Given the description of an element on the screen output the (x, y) to click on. 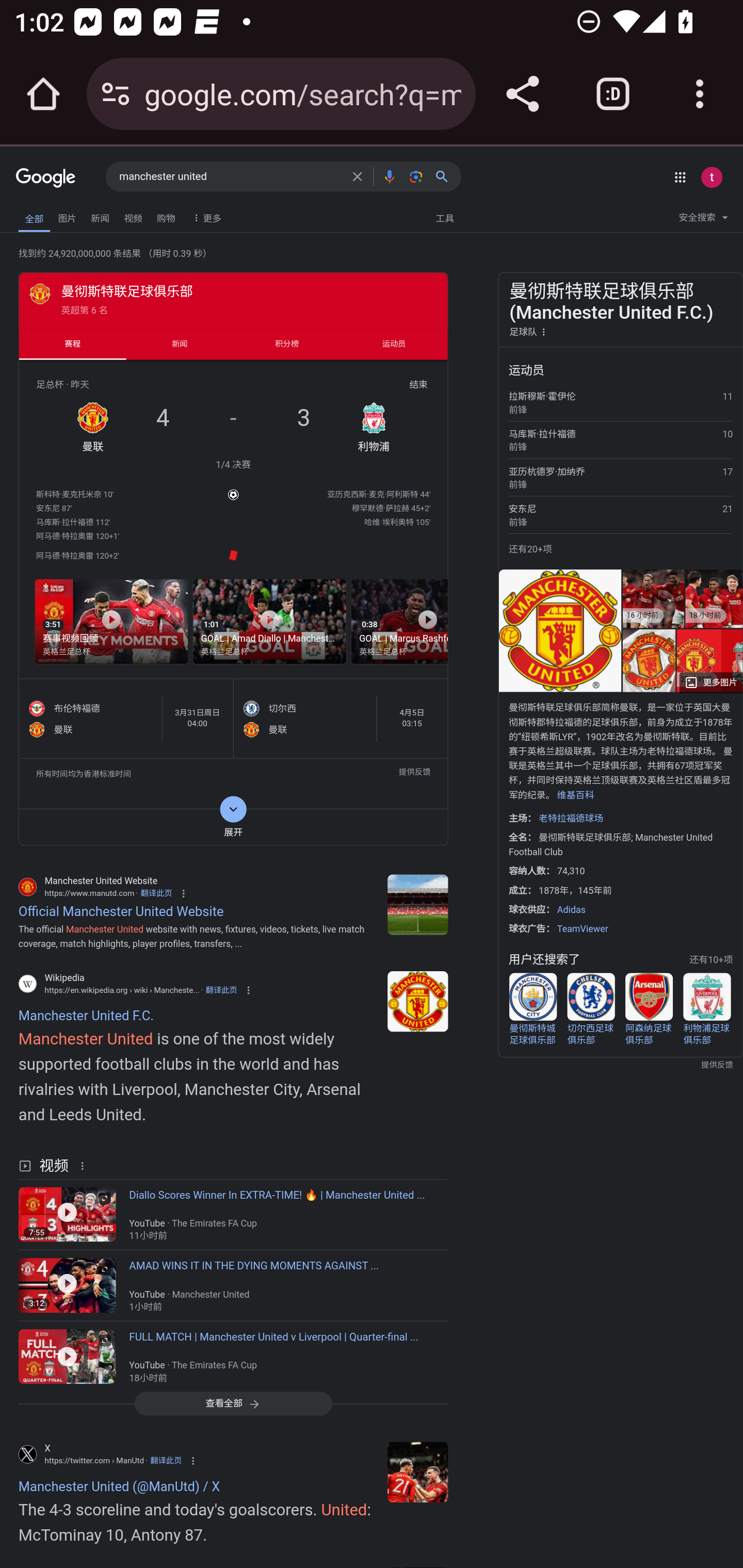
Open the home page (43, 93)
Connection is secure (115, 93)
Share (522, 93)
Switch or close tabs (612, 93)
Customize and control Google Chrome (699, 93)
清除 (357, 176)
按语音搜索 (388, 176)
按图搜索 (415, 176)
搜索 (445, 176)
Google 应用 (679, 176)
Google 账号： test appium (testappium002@gmail.com) (711, 176)
Google (45, 178)
manchester united (229, 177)
无障碍功能反馈 (42, 212)
图片 (67, 216)
新闻 (99, 216)
视频 (133, 216)
购物 (166, 216)
更多 (205, 216)
安全搜索 (703, 219)
工具 (443, 216)
曼彻斯特联足球俱乐部 英超第 6 名 曼彻斯特联足球俱乐部 英超第 6 名 (232, 299)
赛程 (71, 343)
新闻 (179, 343)
积分榜 (286, 343)
运动员 (394, 343)
提供反馈 (413, 773)
展开 (232, 826)
www.manutd (417, 903)
翻译此页 (156, 891)
Manchester_United_F.C (417, 1000)
翻译此页 (221, 989)
关于这条结果的详细信息 (85, 1164)
查看全部 (233, 1403)
ManUtd (417, 1471)
翻译此页 (165, 1461)
manchesterunited (417, 1568)
